Given the description of an element on the screen output the (x, y) to click on. 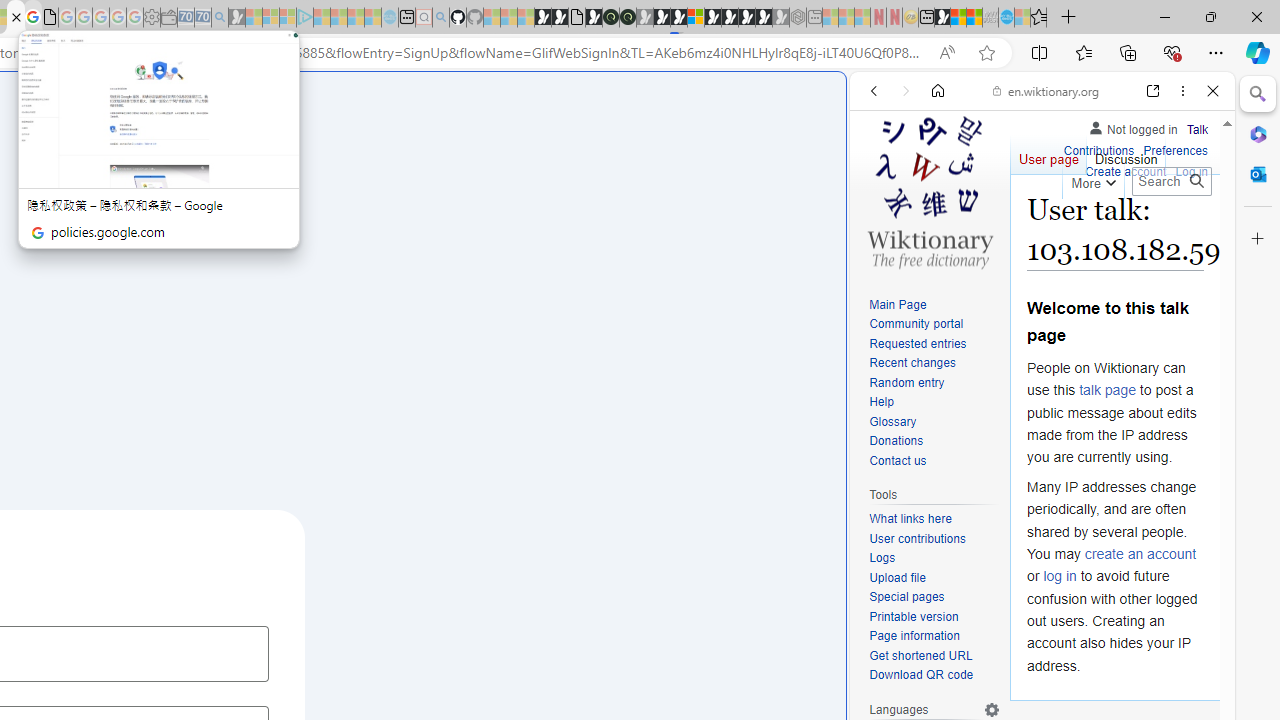
Language settings (992, 709)
Talk (1197, 129)
Community portal (916, 323)
Download QR code (921, 675)
Upload file (934, 578)
Close split screen (844, 102)
